Given the description of an element on the screen output the (x, y) to click on. 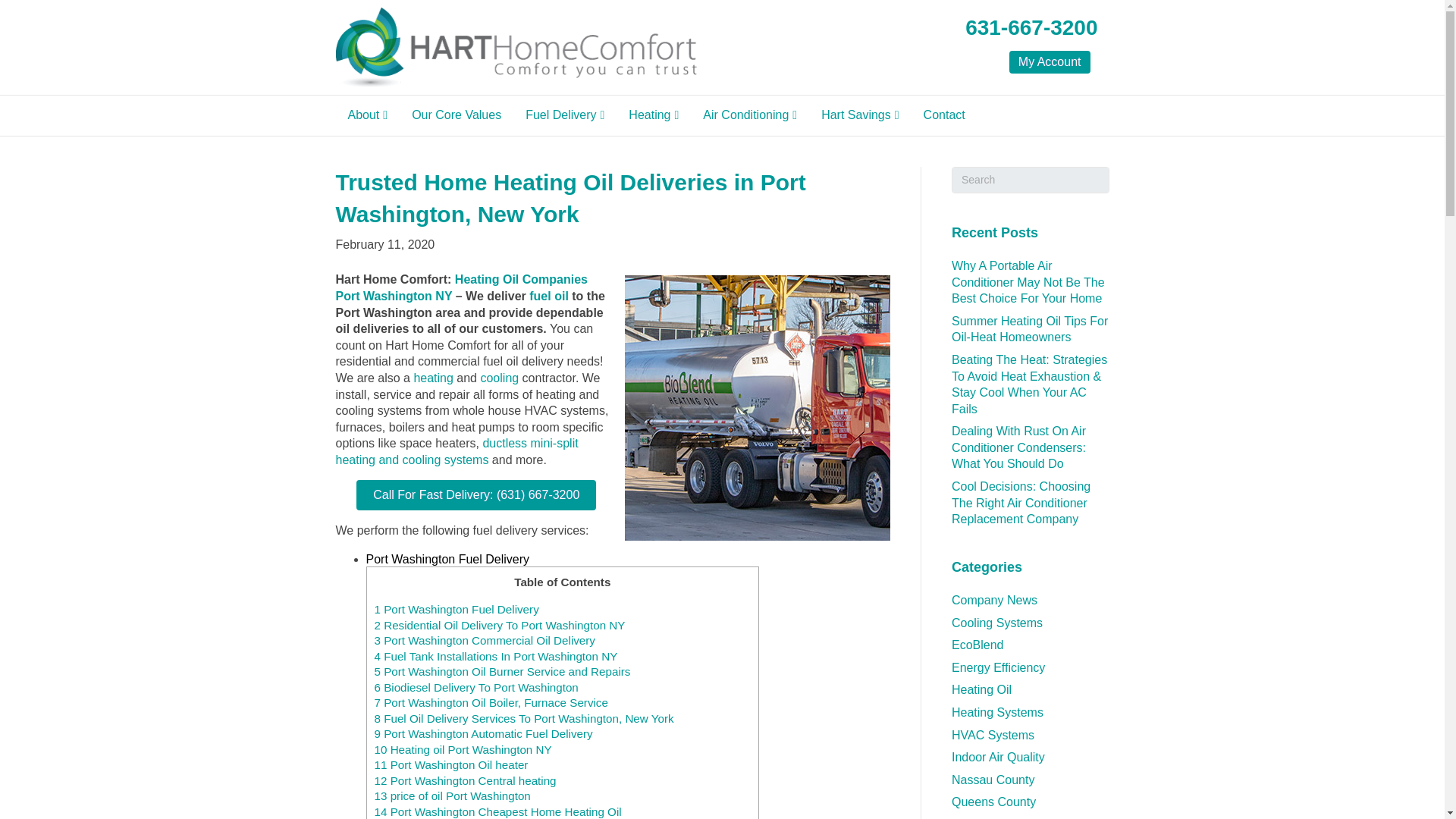
Hart Savings (860, 115)
About (366, 115)
Heating Oil Companies Port Washington NY (460, 287)
631-667-3200 (1031, 26)
Air Conditioning (749, 115)
Contact (943, 115)
My Account (1049, 61)
heating (432, 377)
Heating (652, 115)
Our Core Values (455, 115)
Type and press Enter to search. (1030, 180)
fuel oil (549, 295)
Fuel Delivery (564, 115)
